Given the description of an element on the screen output the (x, y) to click on. 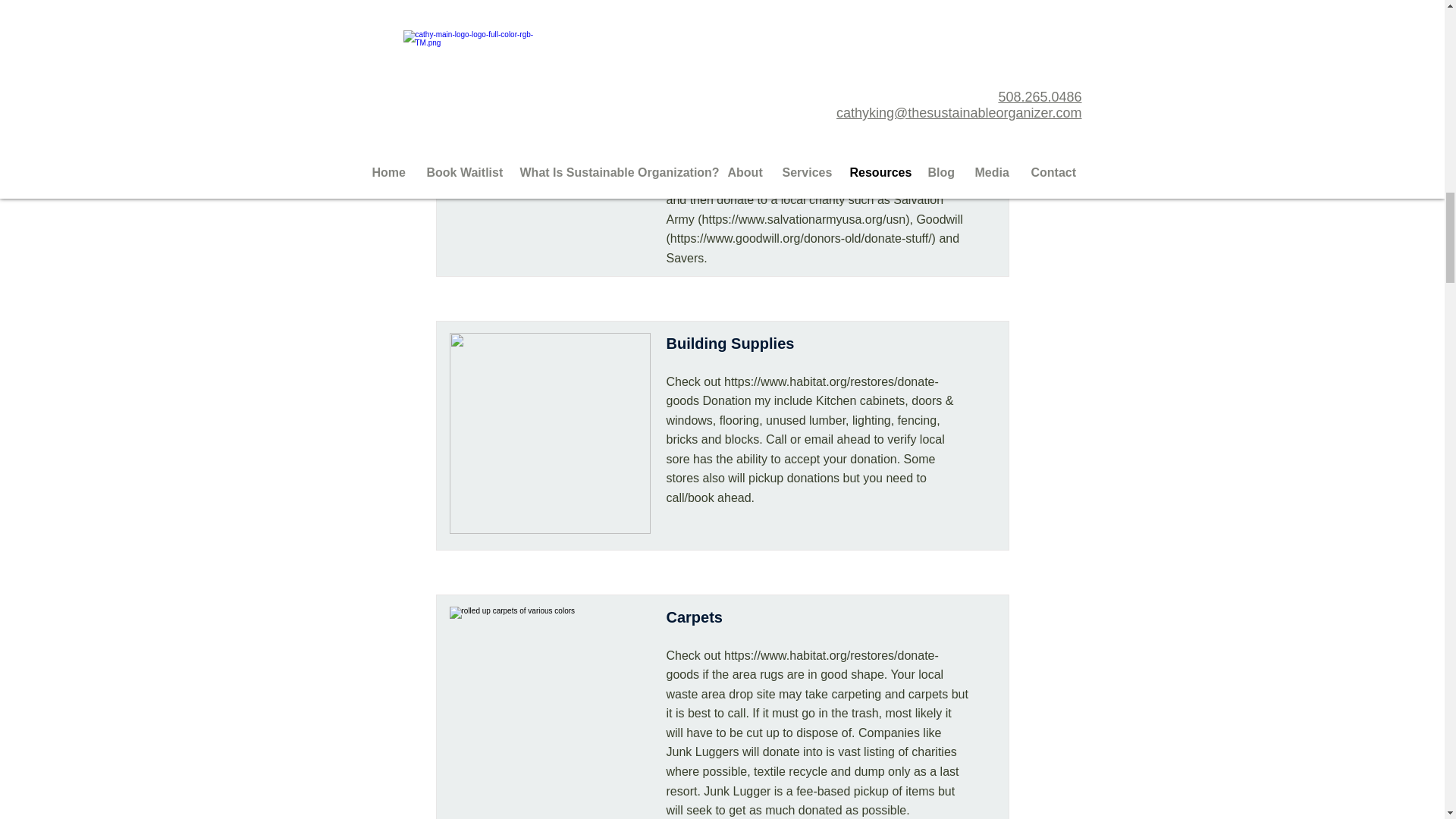
Image by Tom Hermans.jpg (548, 154)
building supplies.png (548, 432)
Rolled Up Rugs.jpg (548, 706)
